Given the description of an element on the screen output the (x, y) to click on. 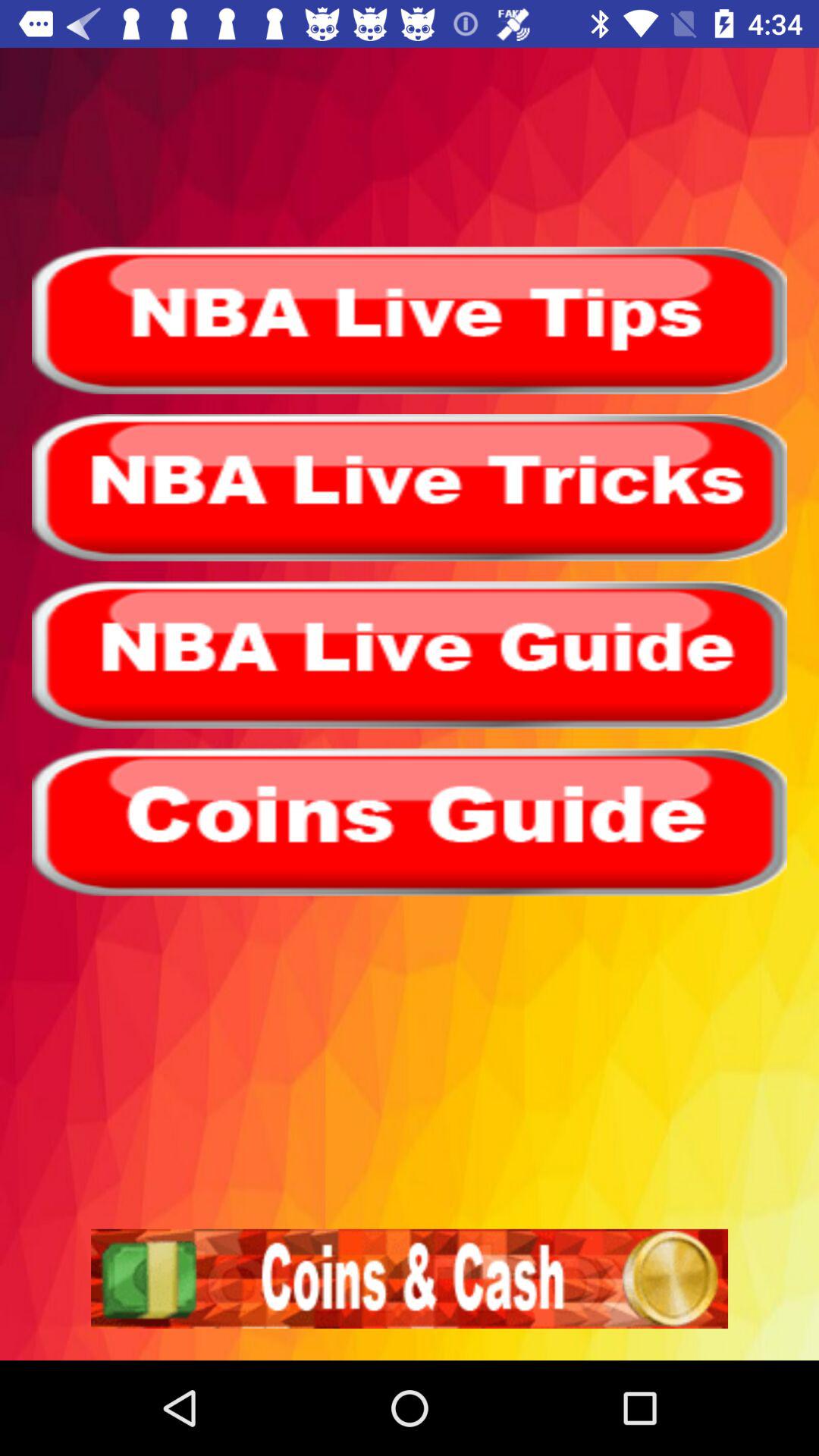
go to the first menu selection (409, 320)
